Given the description of an element on the screen output the (x, y) to click on. 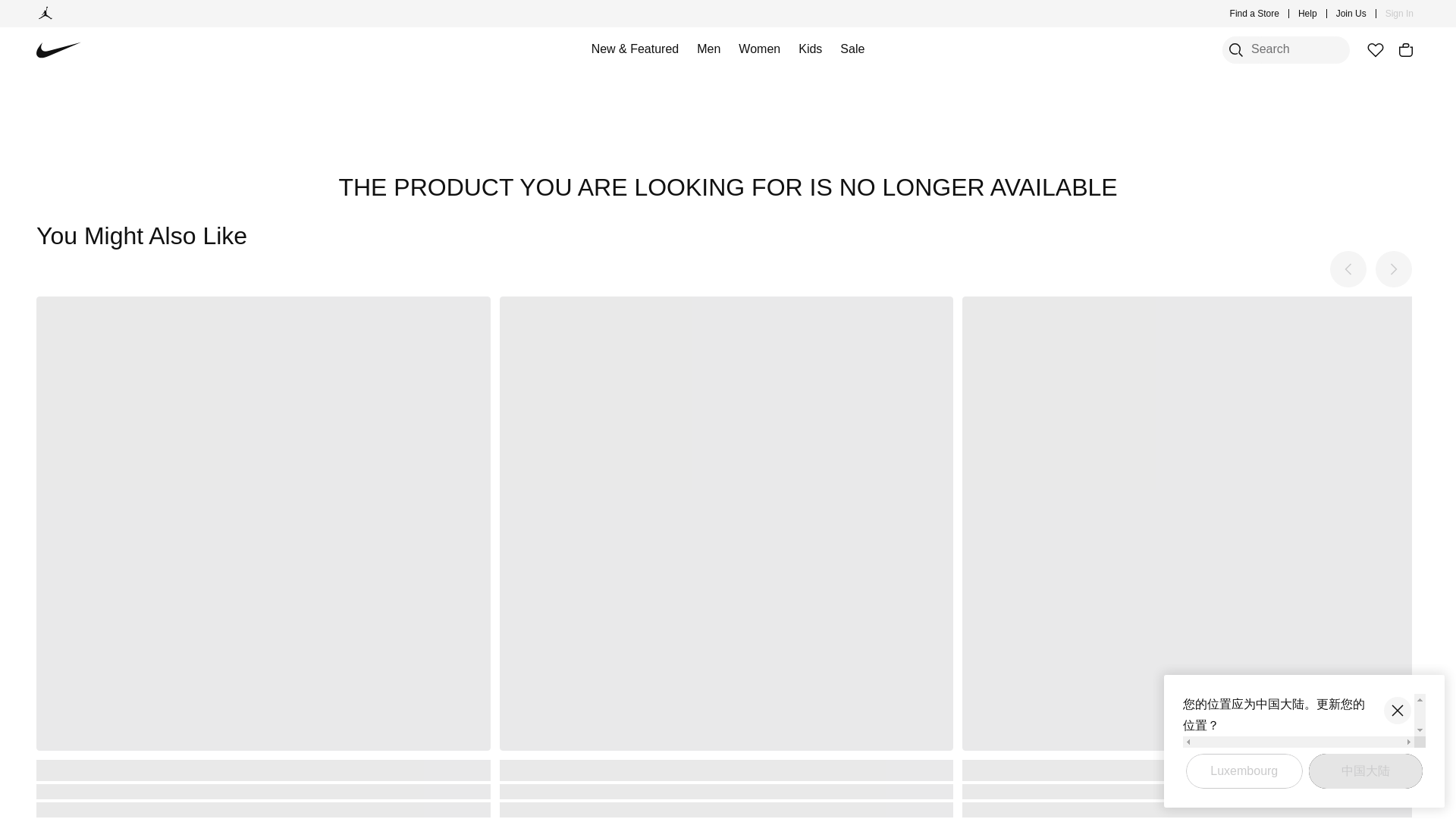
Sign In (1399, 13)
Help (1307, 13)
Join Us (1351, 13)
Favourites (1375, 49)
Find a Store (1254, 13)
Bag Items: 0 (1405, 49)
